Given the description of an element on the screen output the (x, y) to click on. 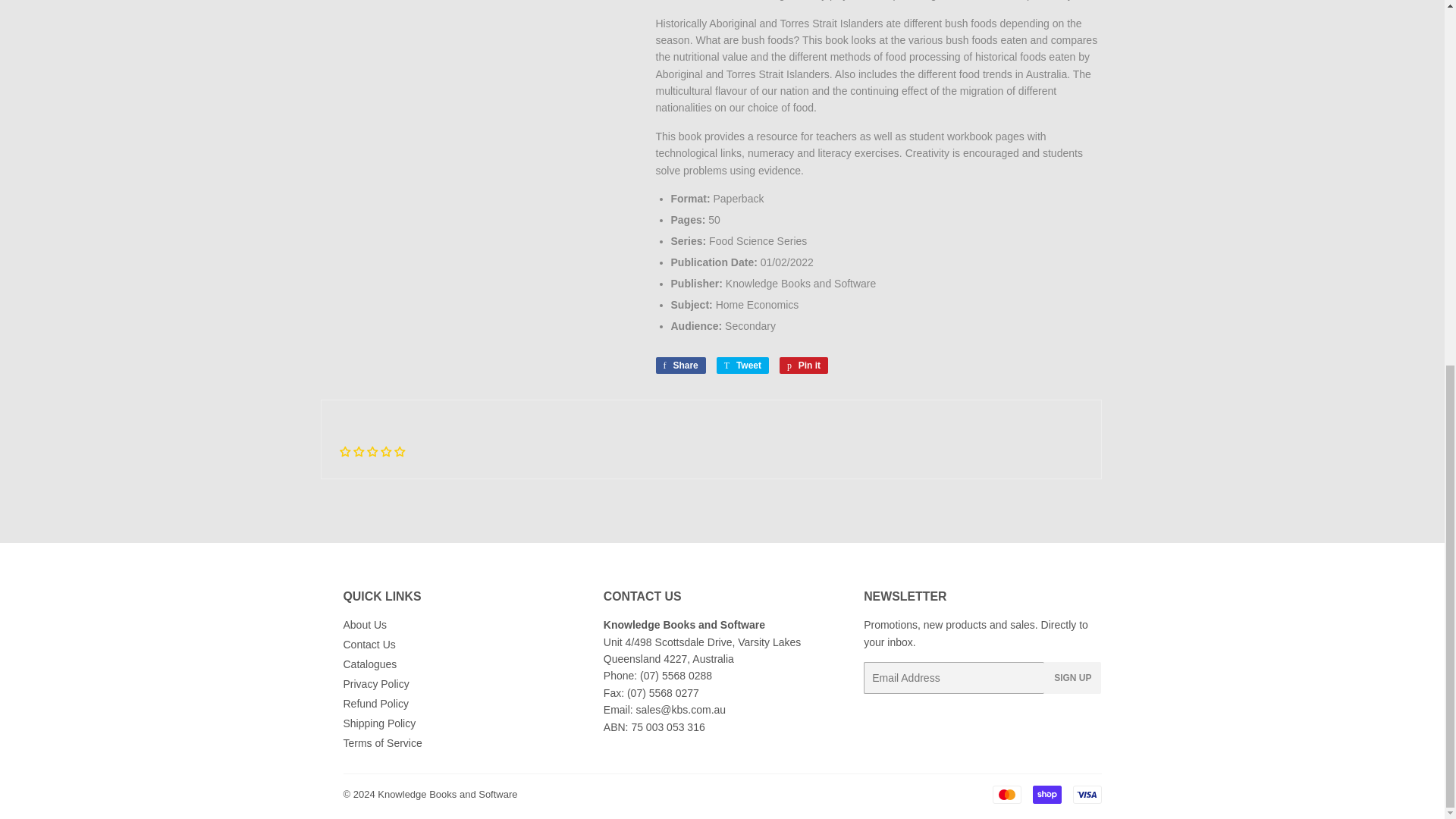
Share on Facebook (679, 365)
Visa (1085, 794)
Shop Pay (1046, 794)
Mastercard (1005, 794)
Pin on Pinterest (803, 365)
Tweet on Twitter (742, 365)
